Given the description of an element on the screen output the (x, y) to click on. 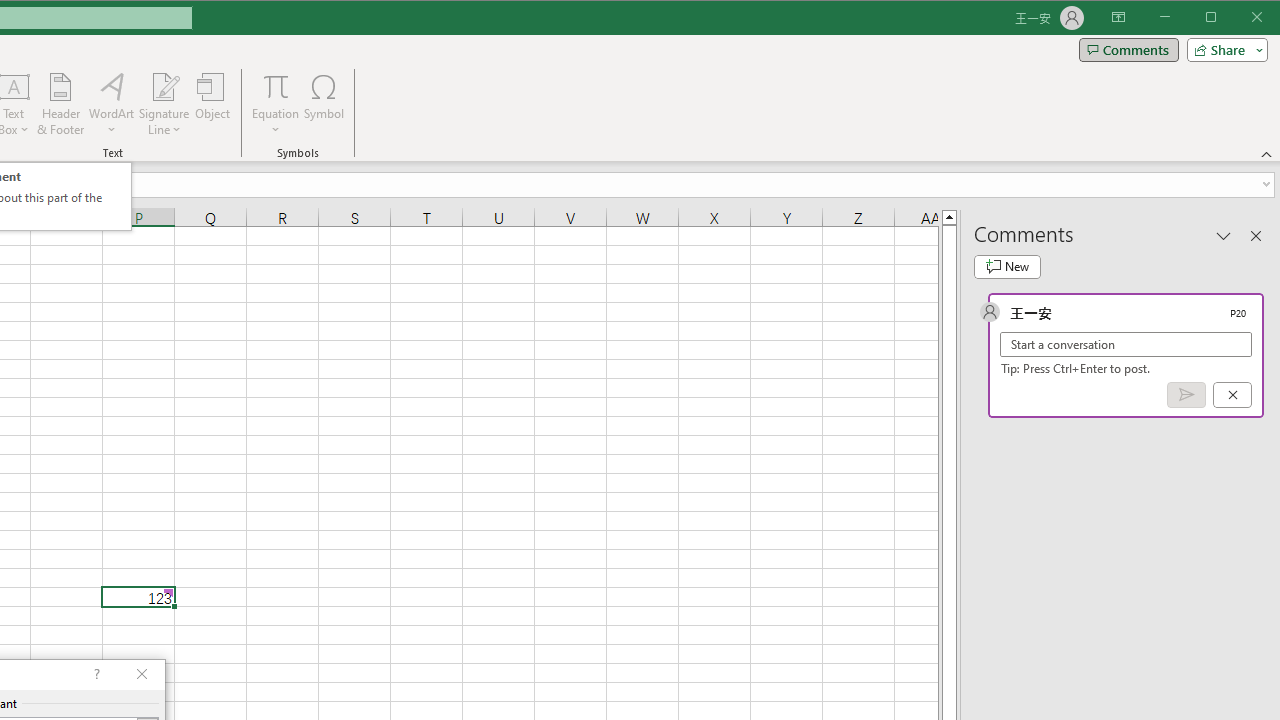
Equation (275, 86)
Equation (275, 104)
Post comment (Ctrl + Enter) (1186, 395)
Cancel (1232, 395)
Signature Line (164, 86)
